Given the description of an element on the screen output the (x, y) to click on. 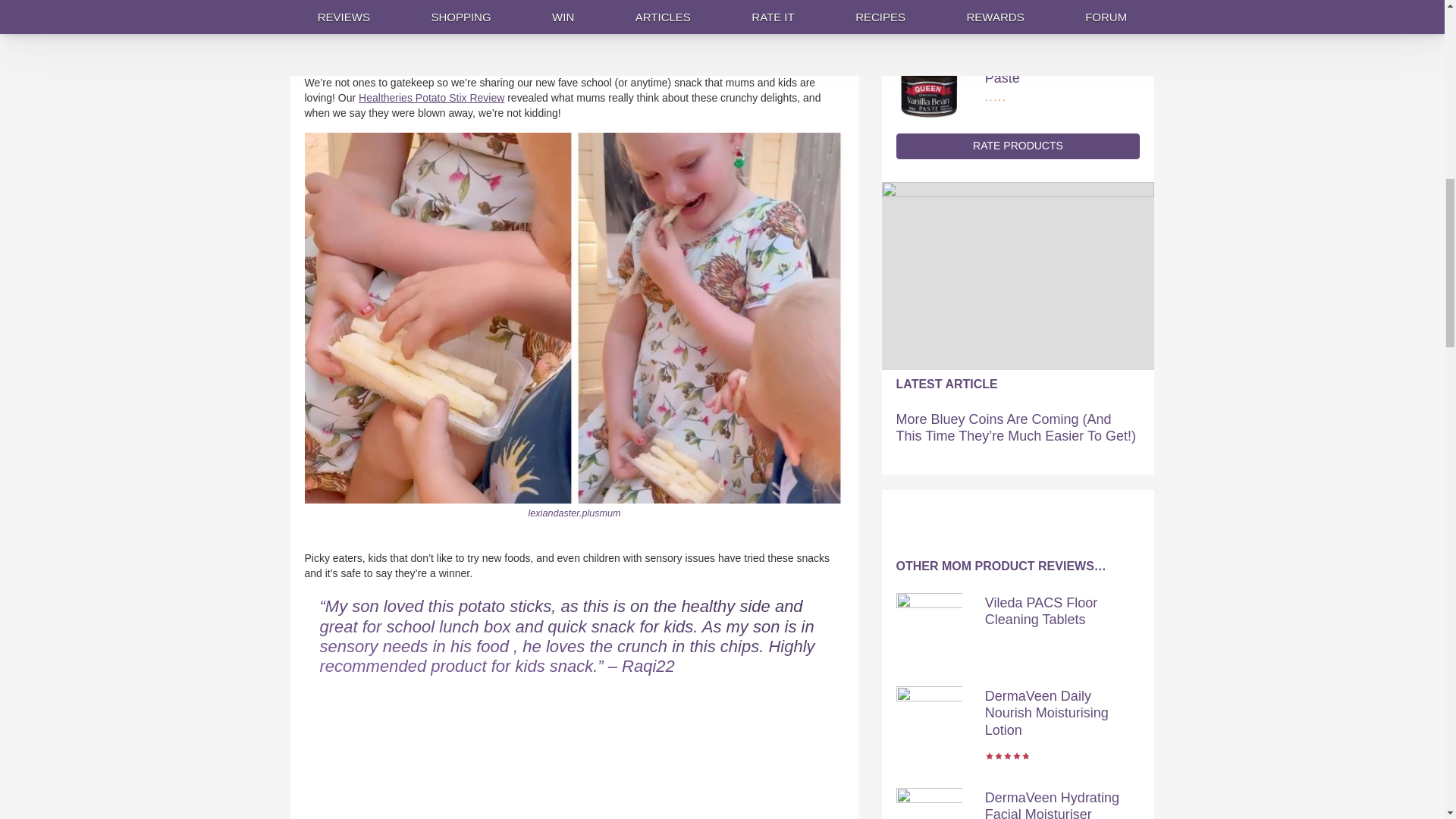
lexiandaster.plusmum (573, 512)
Healtheries Potato Stix Review (430, 97)
Opens a new window (573, 512)
